Given the description of an element on the screen output the (x, y) to click on. 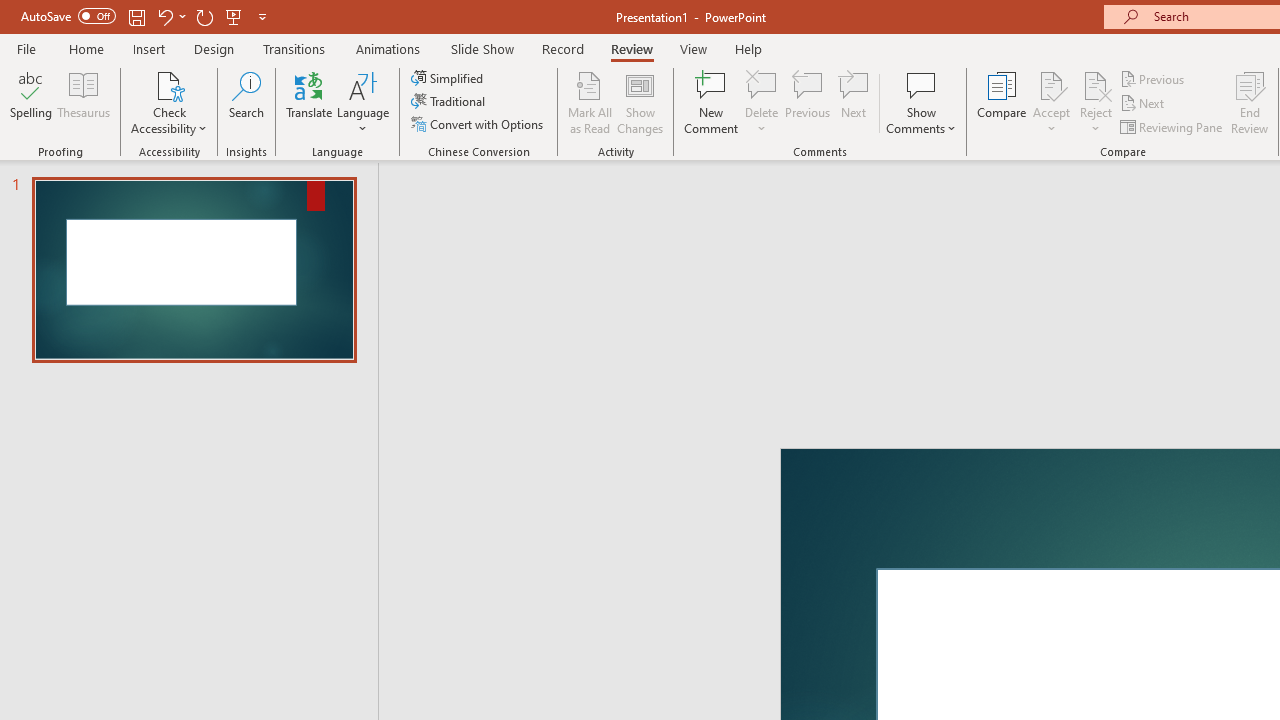
Reject (1096, 102)
Accept (1051, 102)
Traditional (449, 101)
New Comment (711, 102)
Thesaurus... (83, 102)
Simplified (449, 78)
